Given the description of an element on the screen output the (x, y) to click on. 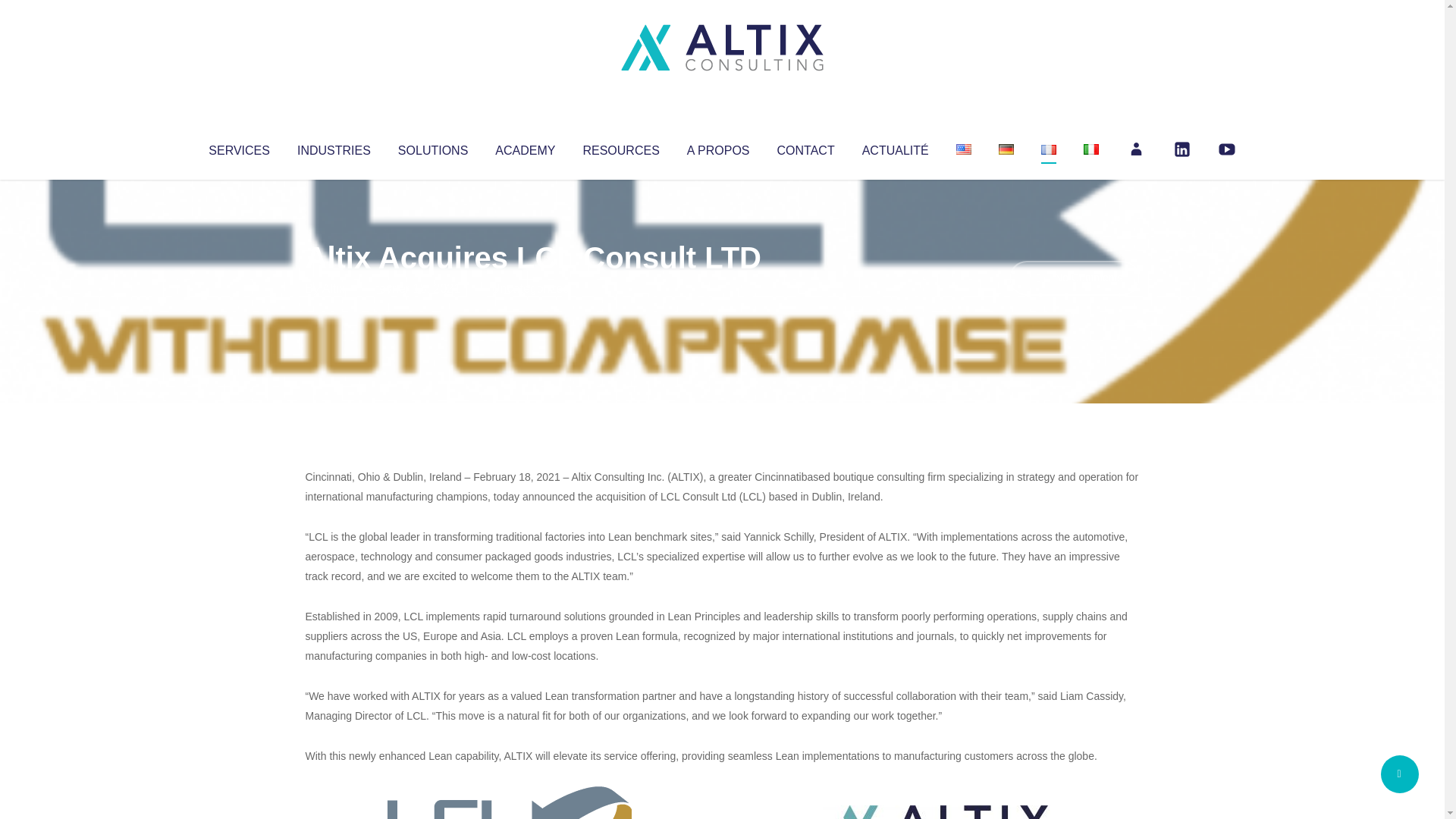
SOLUTIONS (432, 146)
SERVICES (238, 146)
Altix (333, 287)
Articles par Altix (333, 287)
INDUSTRIES (334, 146)
No Comments (1073, 278)
Uncategorized (530, 287)
RESOURCES (620, 146)
A PROPOS (718, 146)
ACADEMY (524, 146)
